Given the description of an element on the screen output the (x, y) to click on. 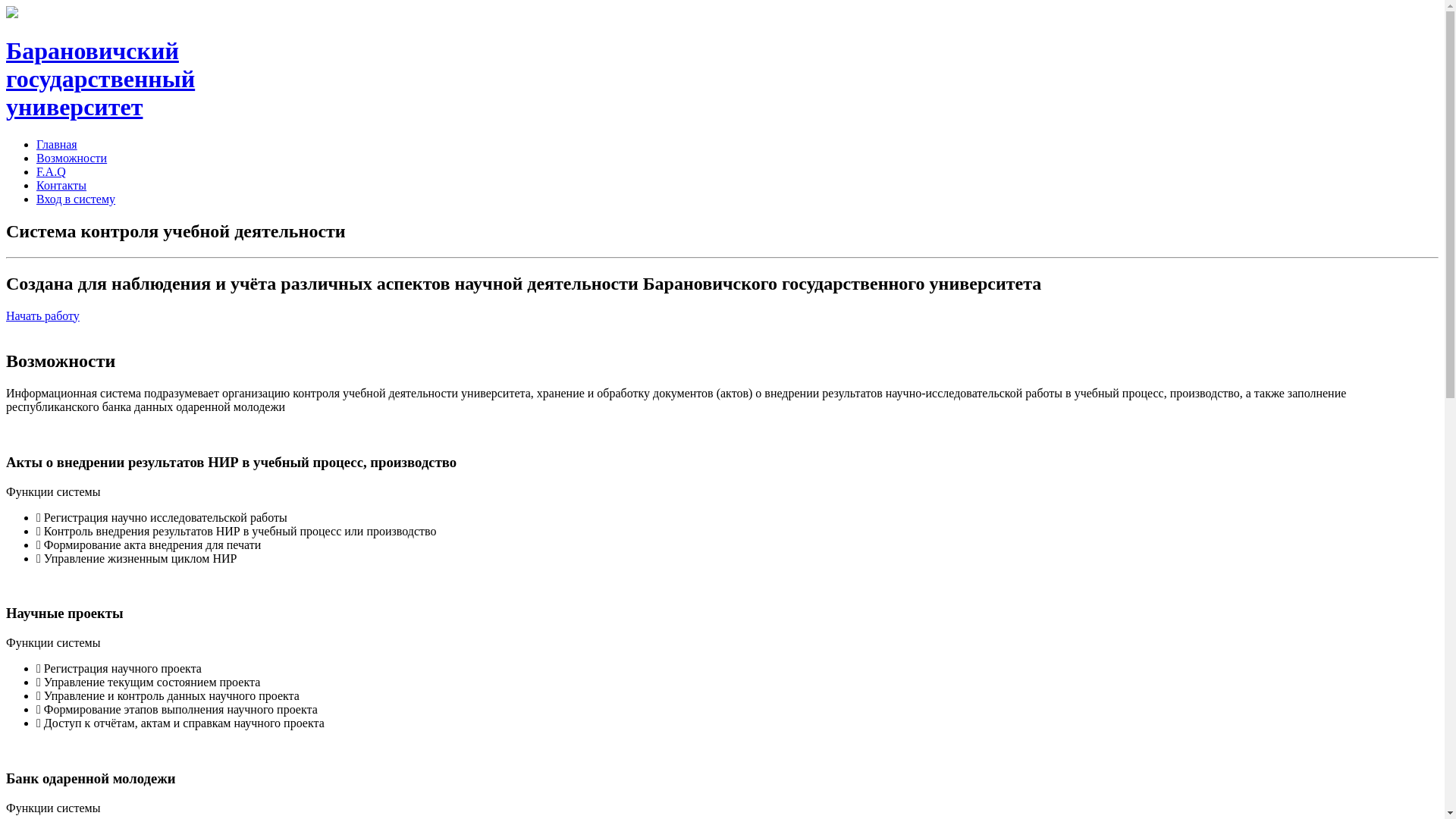
F.A.Q Element type: text (50, 171)
